Given the description of an element on the screen output the (x, y) to click on. 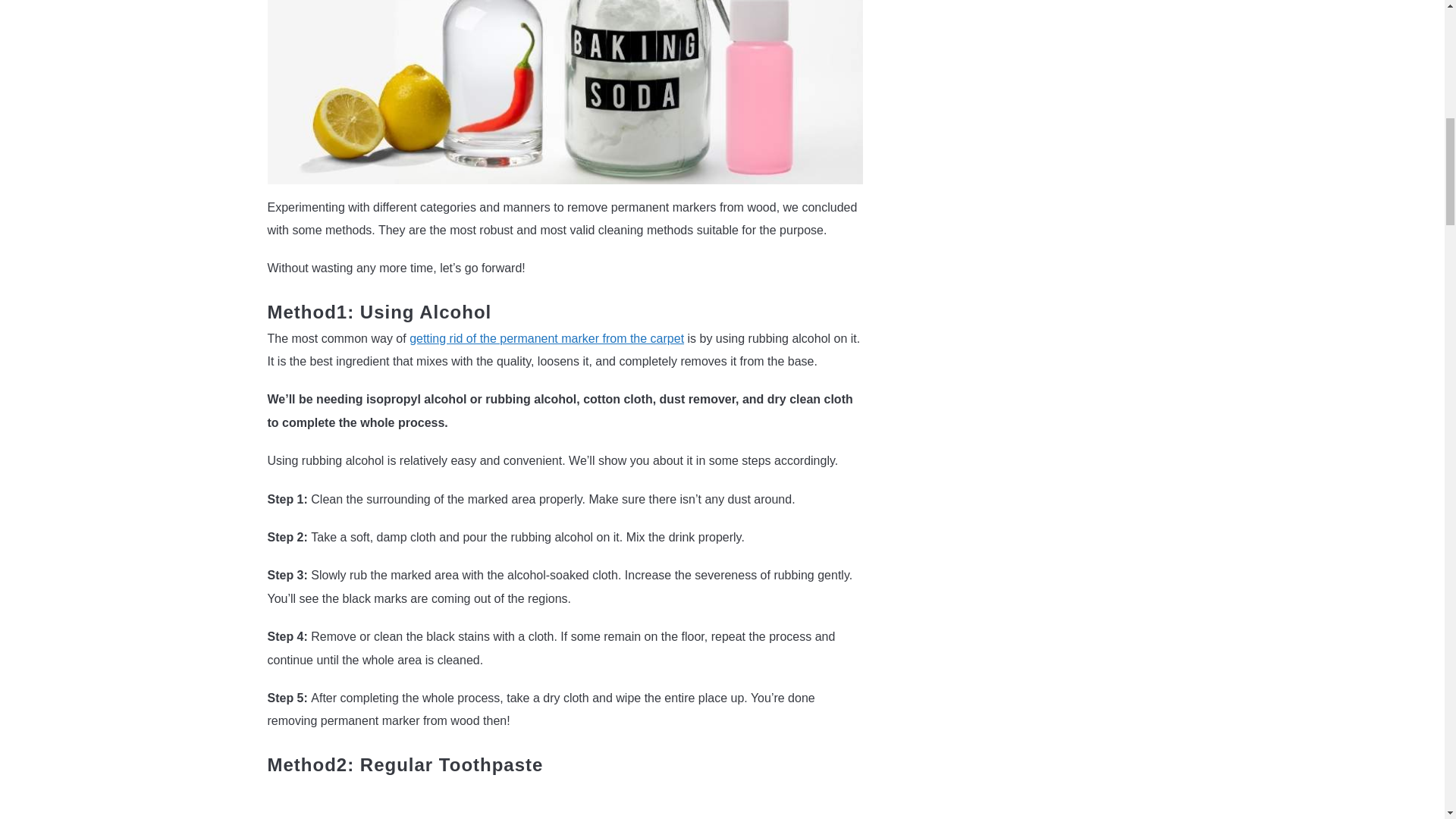
getting rid of the permanent marker from the carpet (546, 338)
